Given the description of an element on the screen output the (x, y) to click on. 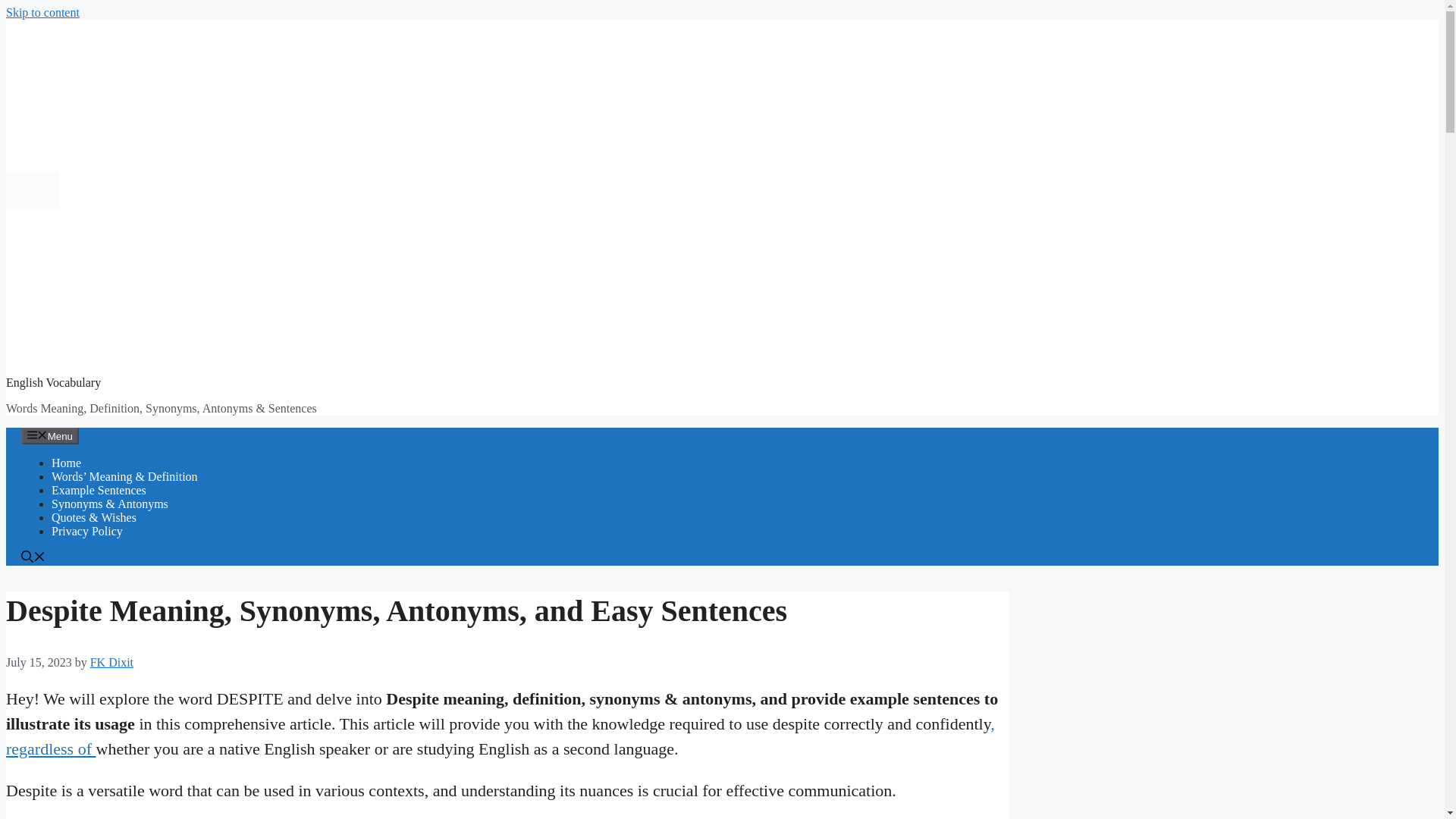
FK Dixit (111, 662)
View all posts by FK Dixit (111, 662)
English Vocabulary (52, 382)
Skip to content (42, 11)
, regardless of (499, 736)
Menu (49, 435)
Example Sentences (98, 490)
Privacy Policy (86, 530)
Home (65, 462)
Skip to content (42, 11)
